Given the description of an element on the screen output the (x, y) to click on. 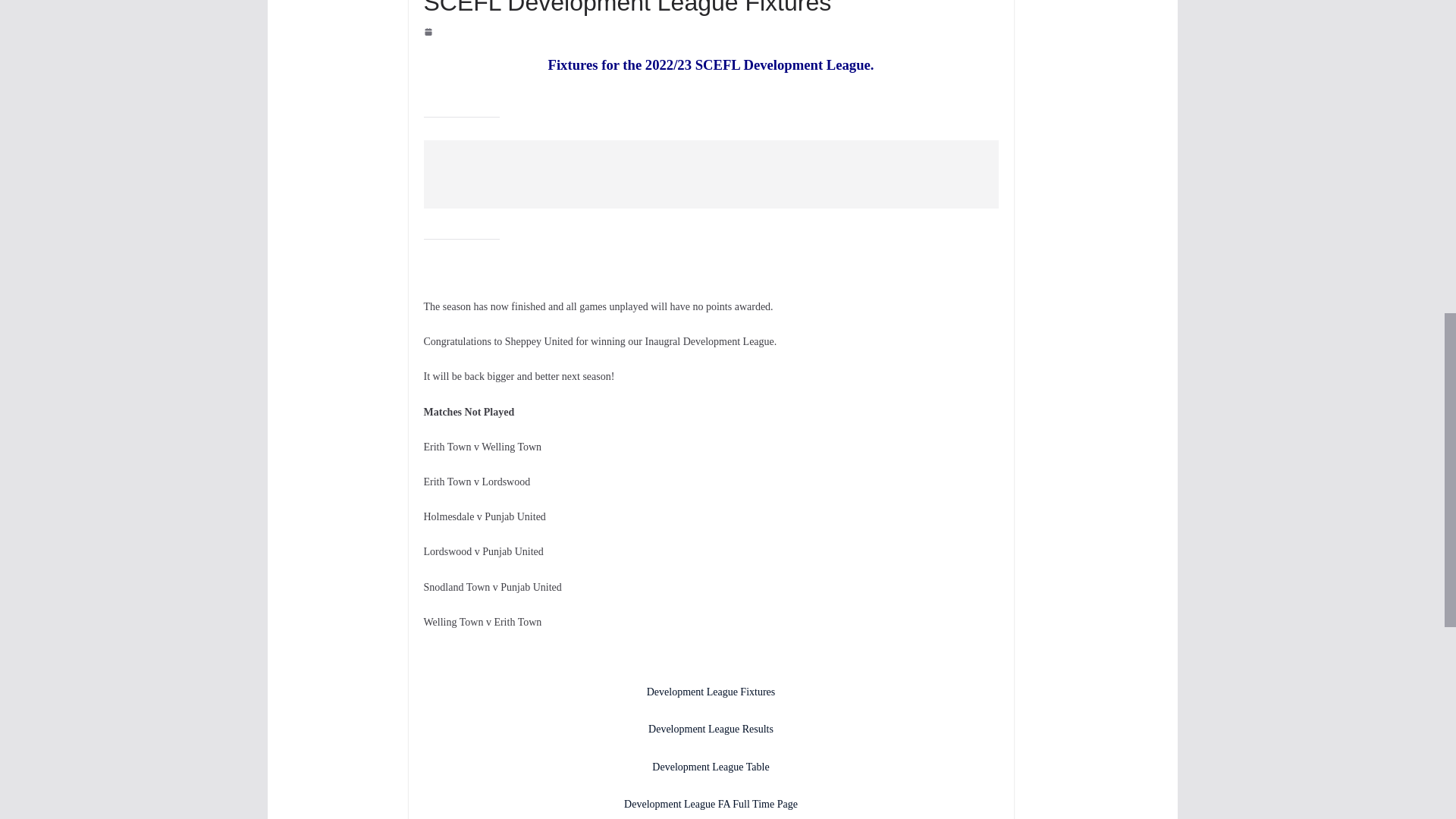
Development League FA Full Time Page (710, 803)
Development League Results (710, 728)
Development League Table (710, 767)
Development League Fixtures (711, 691)
